Given the description of an element on the screen output the (x, y) to click on. 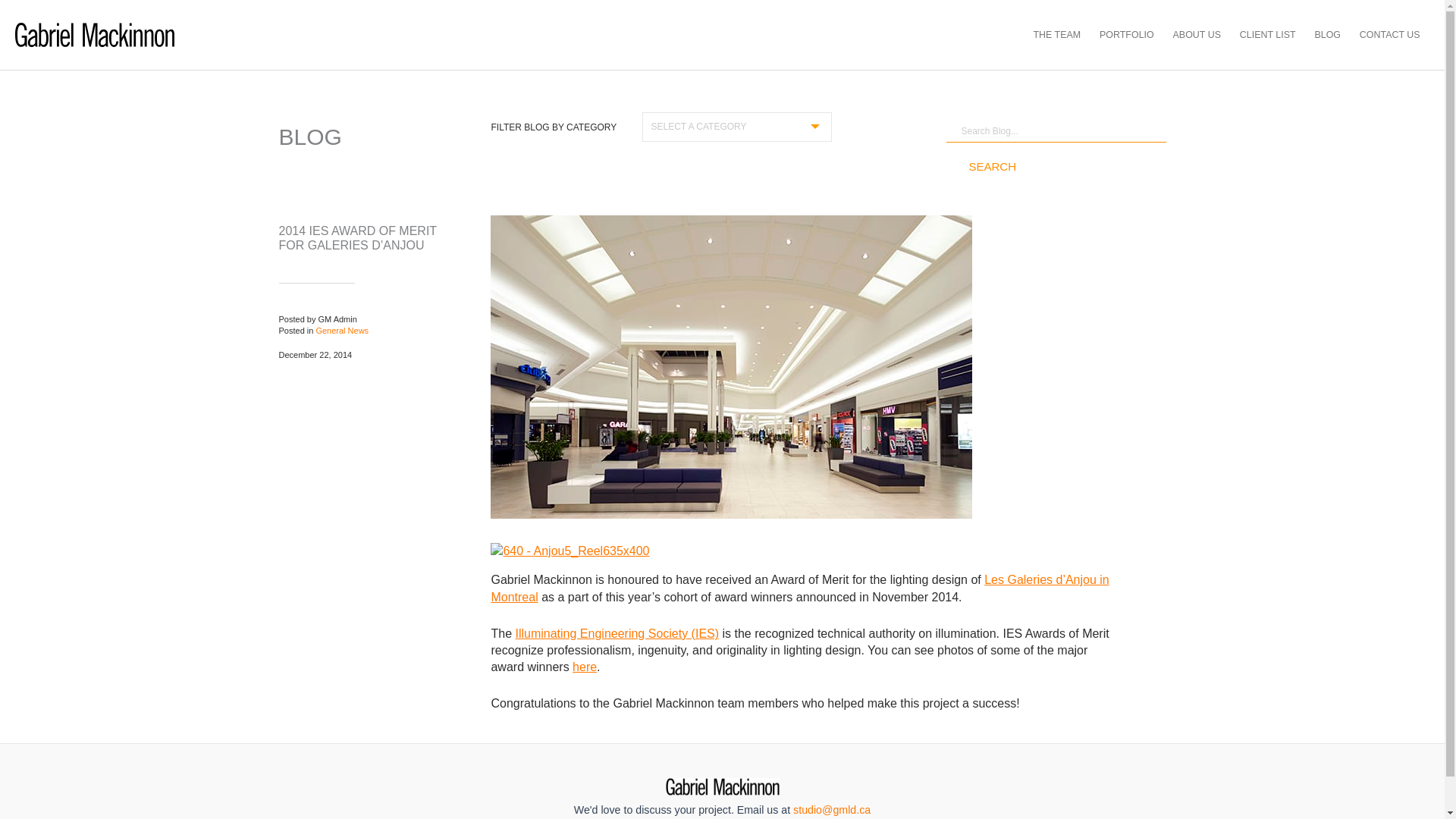
Search (992, 166)
PORTFOLIO (1126, 34)
General News (341, 329)
here (584, 666)
SELECT A CATEGORY (736, 126)
CLIENT LIST (1267, 34)
CONTACT US (1389, 34)
THE TEAM (1056, 34)
ABOUT US (1196, 34)
Search (992, 166)
